Given the description of an element on the screen output the (x, y) to click on. 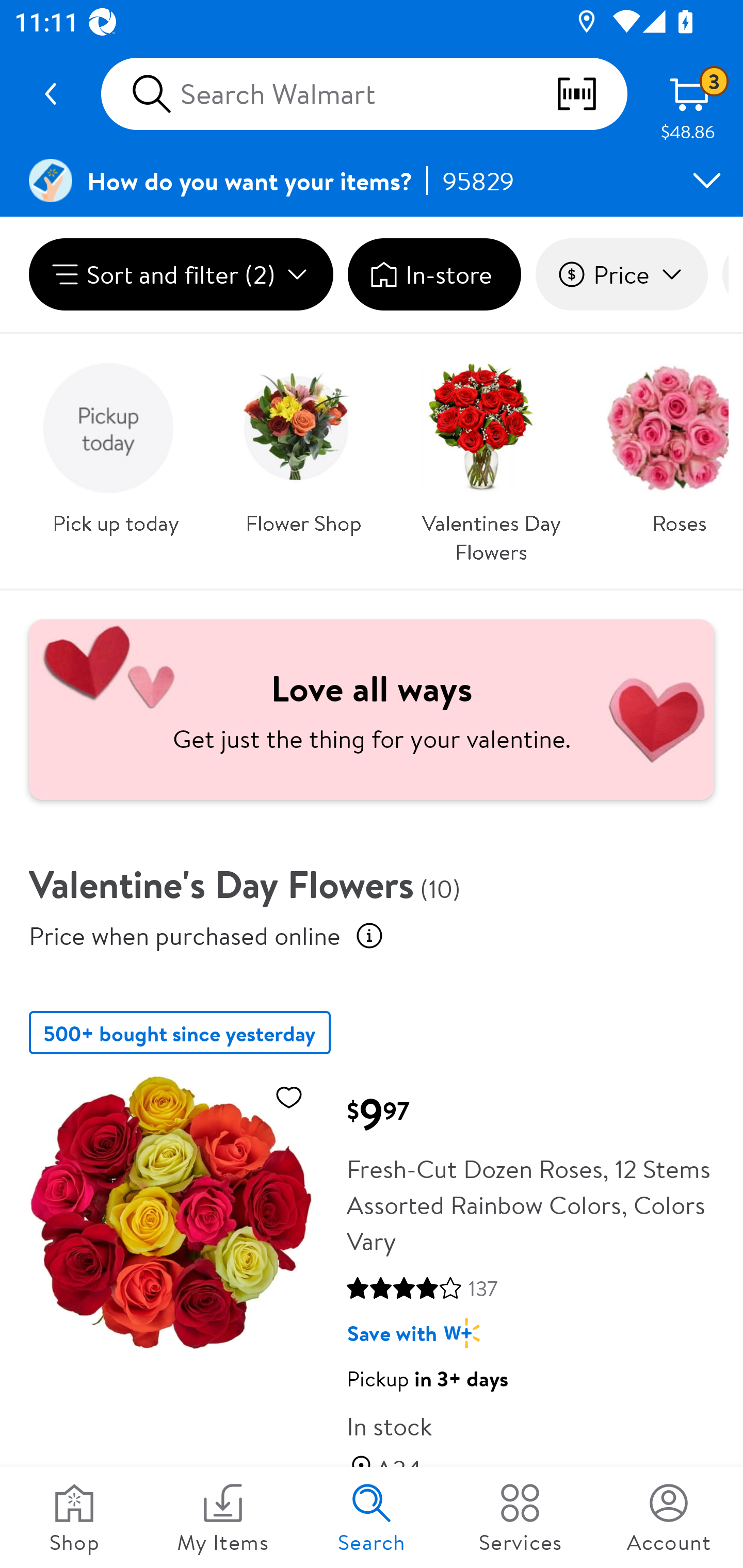
Navigate up (50, 93)
Search Walmart scan barcodes qr codes and more (364, 94)
scan barcodes qr codes and more (591, 94)
Filter by In-store, applied,  Filter icon In-store (433, 274)
Search by Pick up today Pick up today (115, 442)
Search by Flower Shop Flower Shop (303, 442)
Search by Roses Roses (660, 442)
Price when purchased online (184, 935)
Price when purchased online (369, 935)
Shop (74, 1517)
My Items (222, 1517)
Services (519, 1517)
Account (668, 1517)
